Given the description of an element on the screen output the (x, y) to click on. 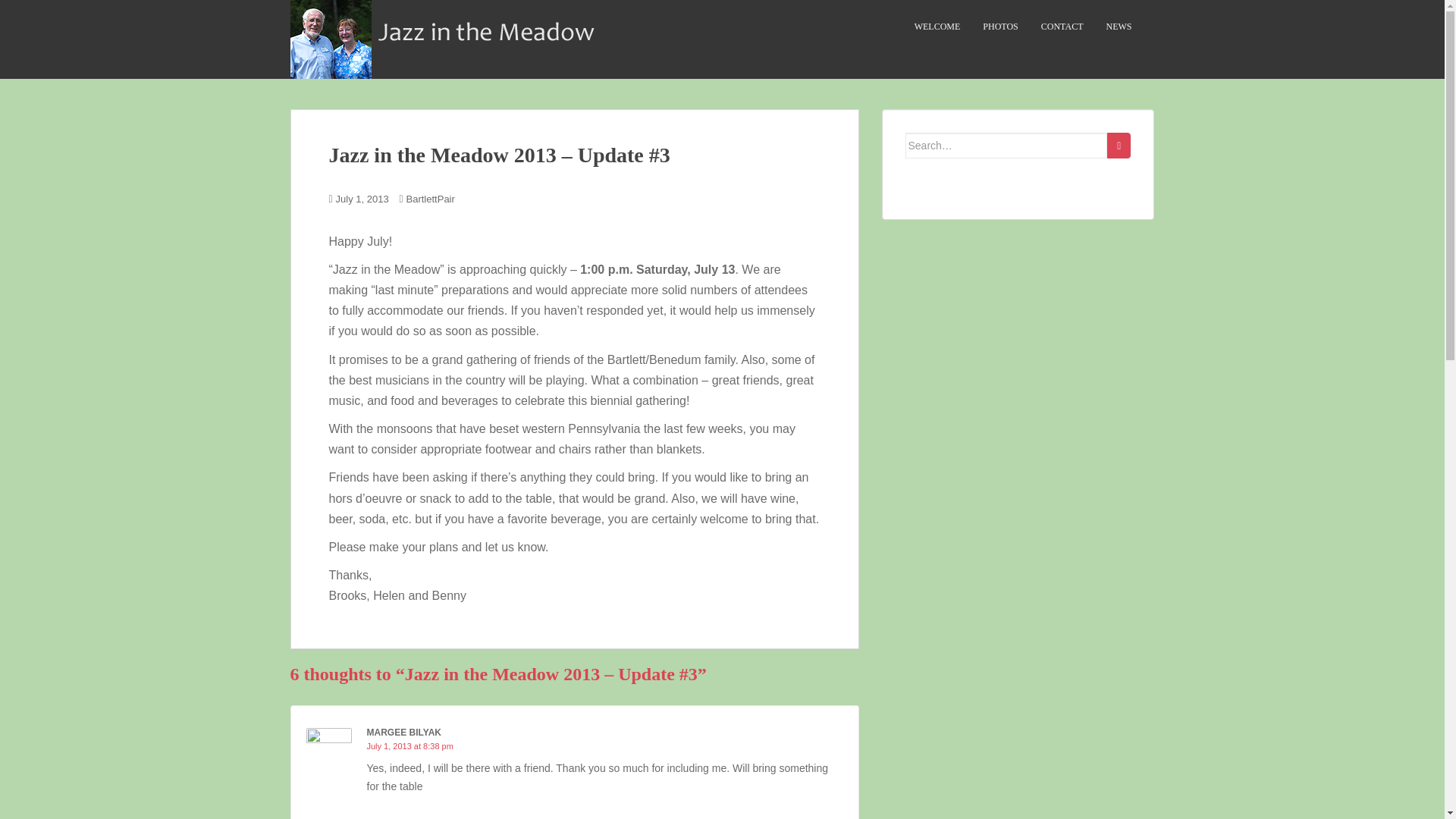
July 1, 2013 (362, 198)
Search (1118, 145)
Search for: (1006, 145)
BartlettPair (430, 198)
WELCOME (937, 26)
PHOTOS (999, 26)
CONTACT (1062, 26)
July 1, 2013 at 8:38 pm (409, 746)
